Given the description of an element on the screen output the (x, y) to click on. 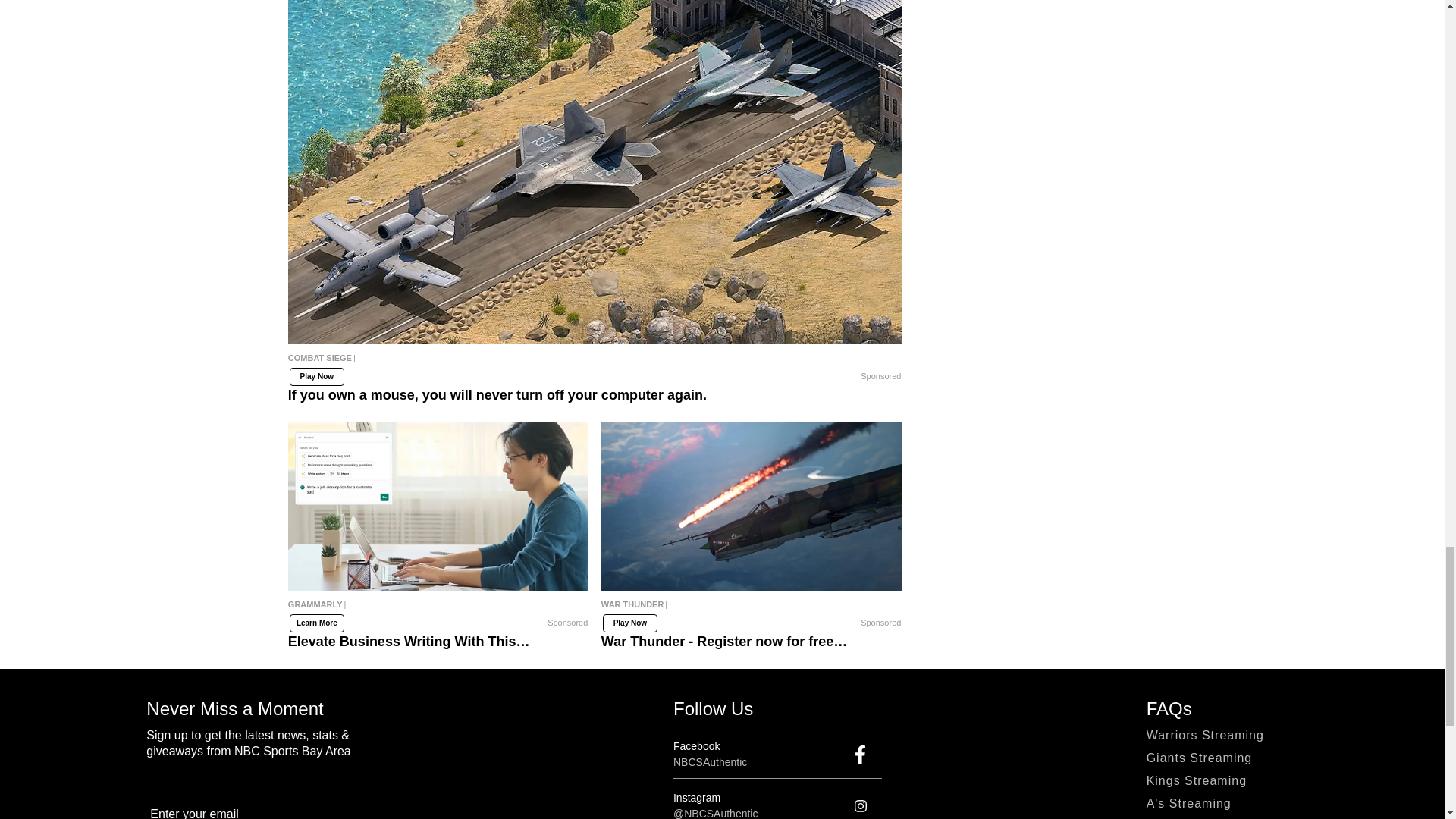
Elevate Business Writing With This Desktop App (438, 610)
Elevate Business Writing With This Desktop App (438, 505)
